Given the description of an element on the screen output the (x, y) to click on. 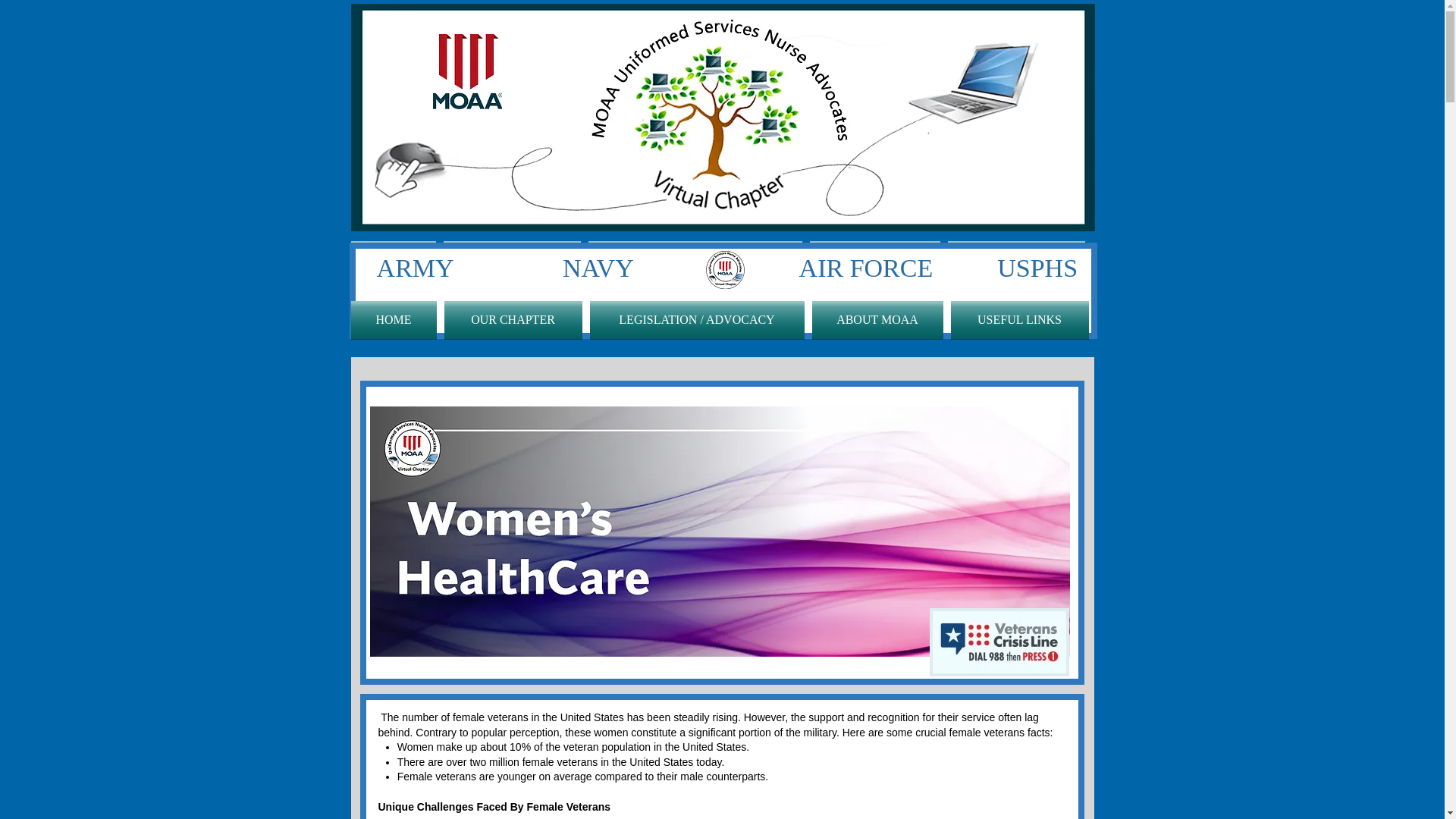
OUR CHAPTER (512, 320)
USEFUL LINKS (1013, 259)
USEFUL LINKS (1016, 320)
OUR CHAPTER (512, 259)
ABOUT MOAA (877, 320)
younger on average (544, 776)
HOME (394, 320)
HOME (394, 259)
ABOUT MOAA (874, 259)
female veterans facts (999, 732)
